Given the description of an element on the screen output the (x, y) to click on. 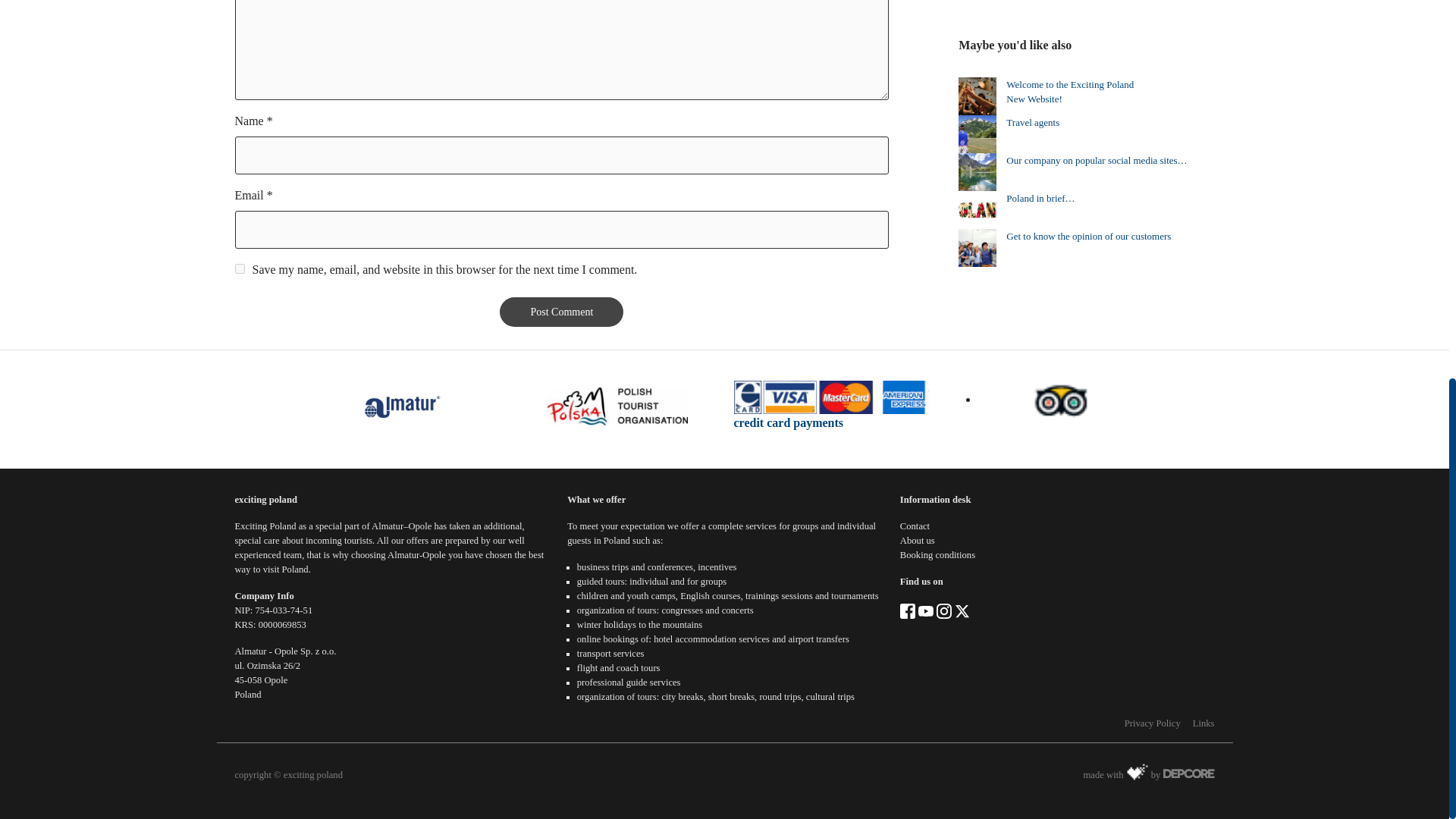
About us (916, 540)
Find us on Twitter (962, 609)
yes (239, 268)
Booking conditions (937, 554)
Contact (914, 525)
Find us on Instagram (944, 609)
credit card payments (788, 422)
Find us on Youtube (925, 609)
Post Comment (561, 311)
Find us on Facebook (907, 609)
